Given the description of an element on the screen output the (x, y) to click on. 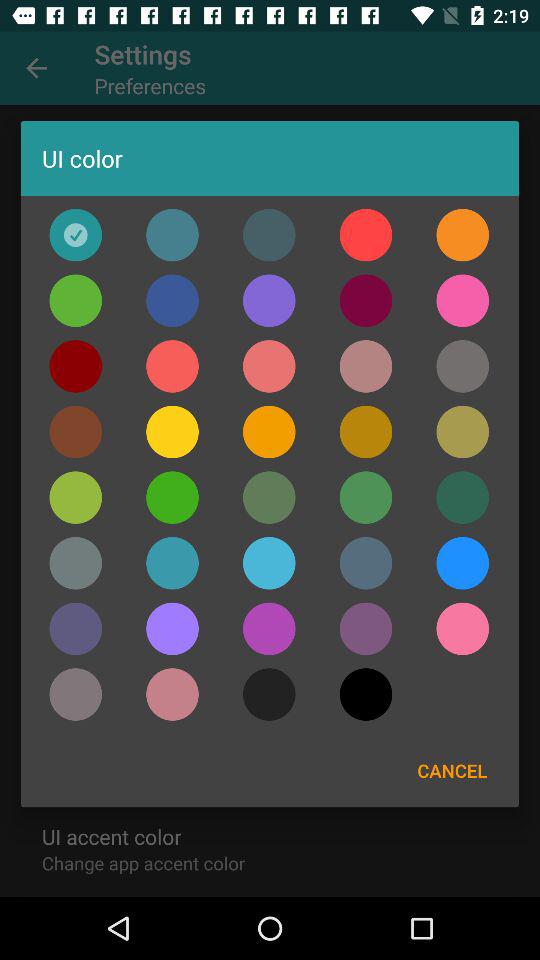
click the icon at the bottom (268, 694)
